Given the description of an element on the screen output the (x, y) to click on. 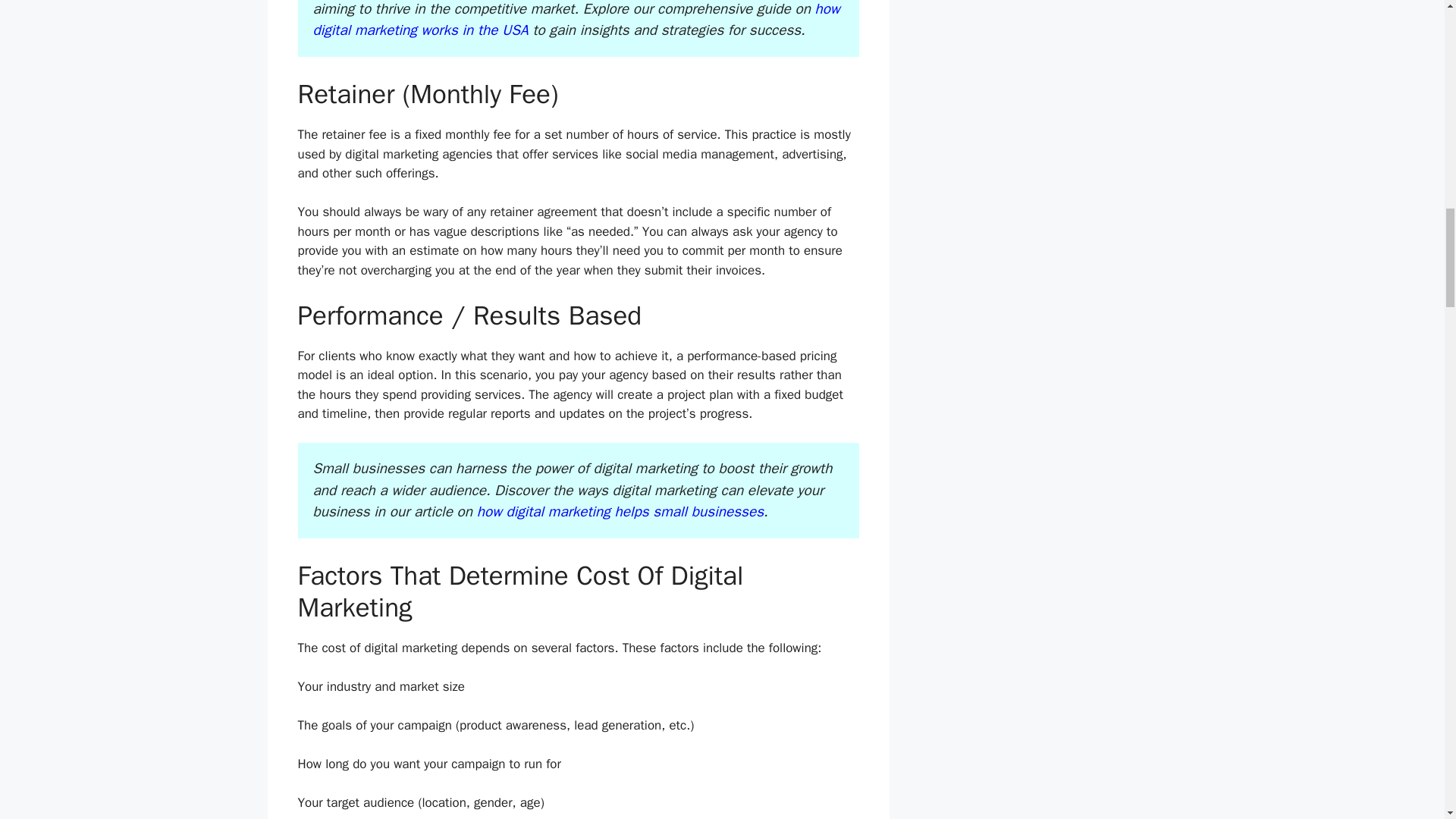
how digital marketing helps small businesses (619, 511)
how digital marketing works in the USA (576, 20)
